Given the description of an element on the screen output the (x, y) to click on. 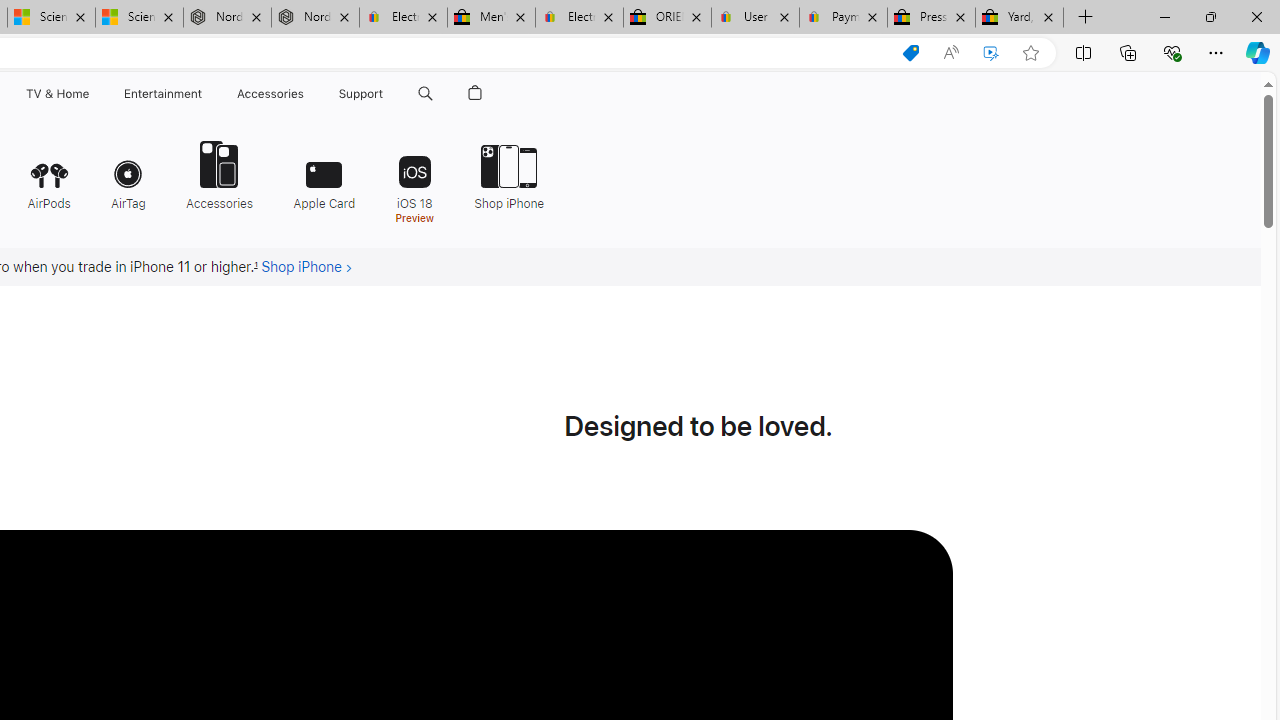
Payments Terms of Use | eBay.com (843, 17)
Entertainment menu (205, 93)
TV and Home (56, 93)
AirPods (48, 173)
Search apple.com (425, 93)
User Privacy Notice | eBay (754, 17)
AutomationID: globalnav-bag (475, 93)
Shop iPhone (509, 173)
Class: globalnav-submenu-trigger-item (387, 93)
AirTag (128, 173)
Footnote 1 (255, 267)
